Given the description of an element on the screen output the (x, y) to click on. 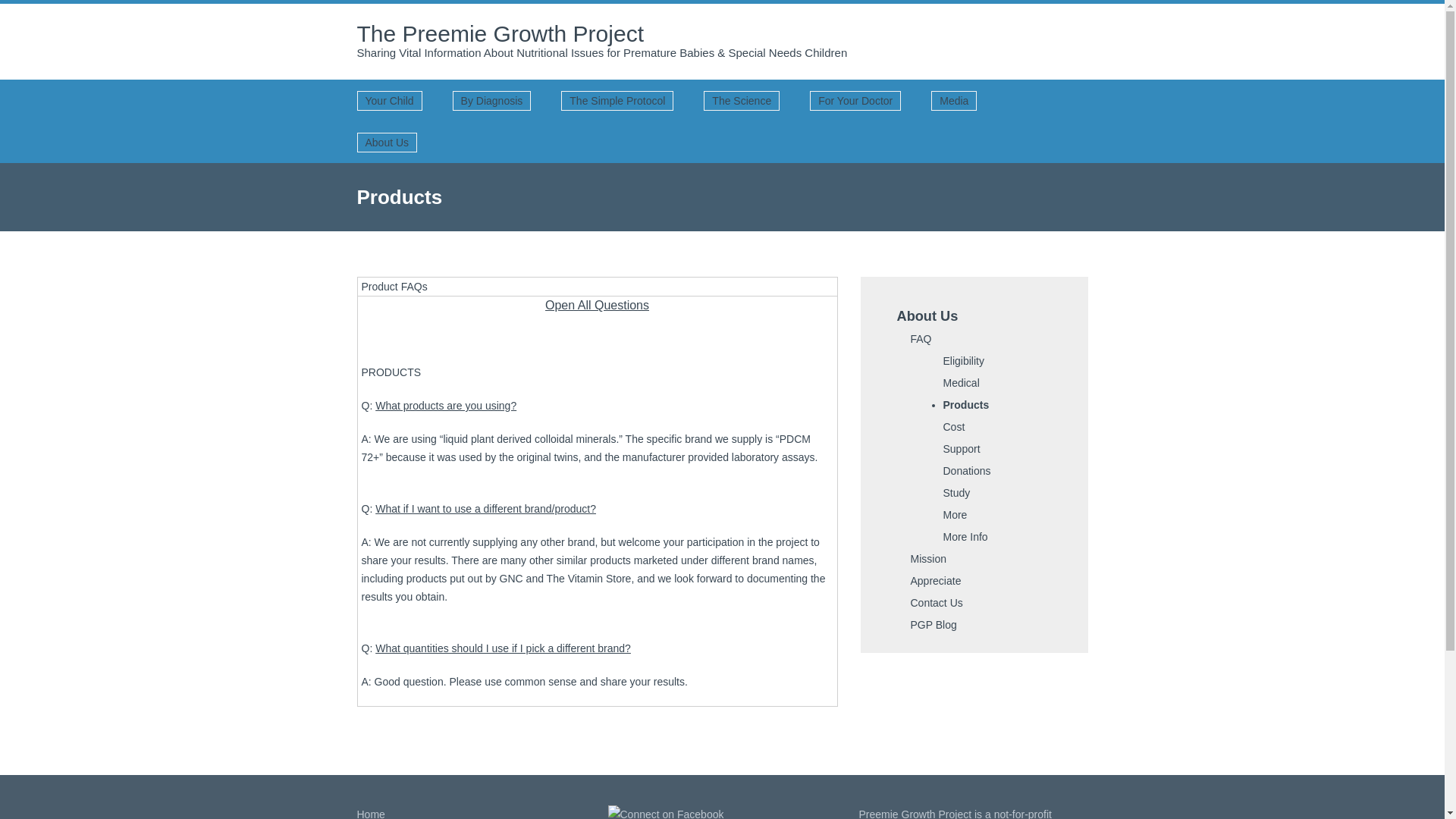
The Science (740, 100)
The Simple Protocol (616, 100)
The Preemie Growth Project (499, 33)
For Your Doctor (855, 100)
Media (953, 100)
Your Child (389, 100)
The Preemie Growth Project (499, 33)
By Diagnosis (491, 100)
